Given the description of an element on the screen output the (x, y) to click on. 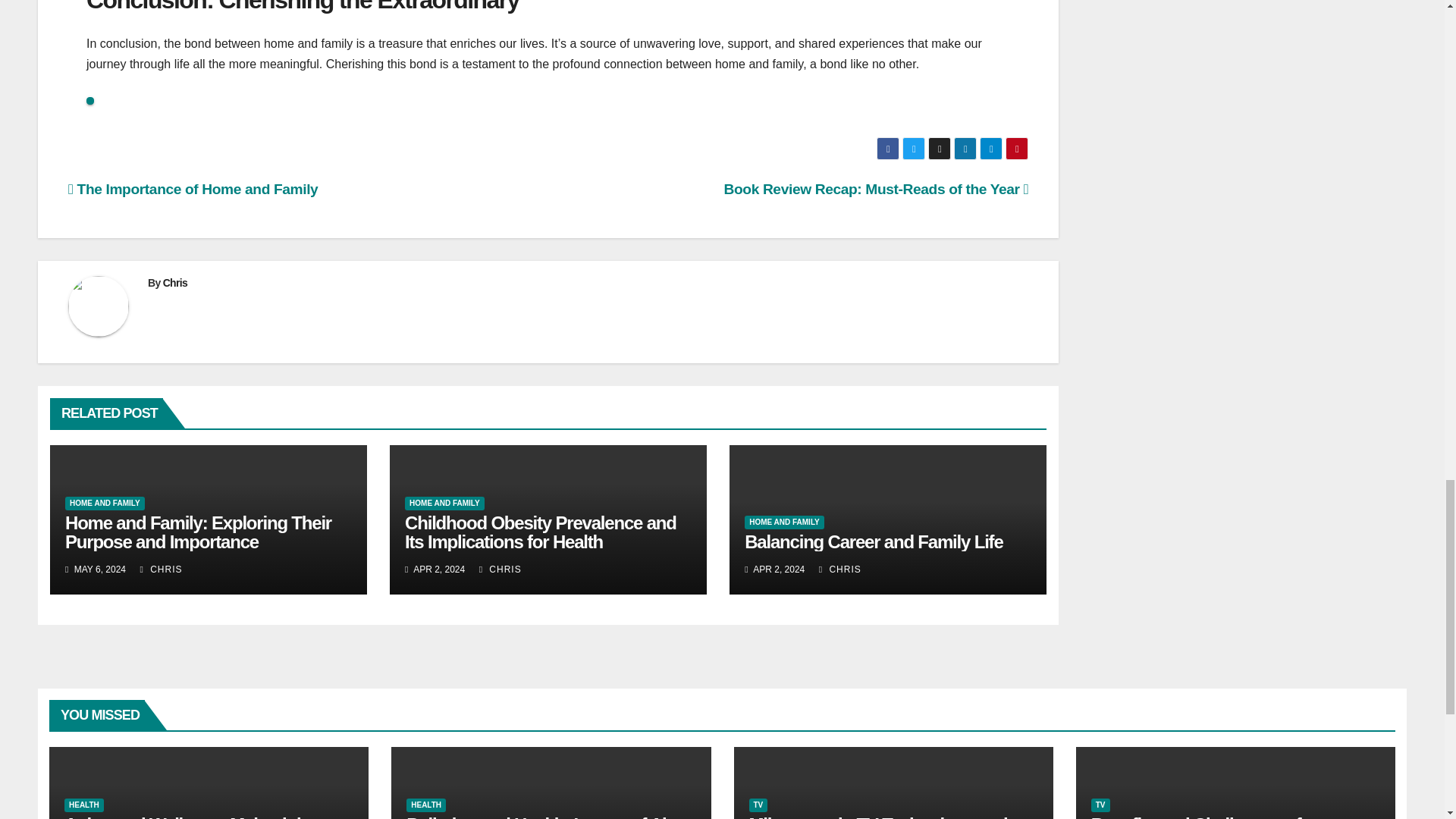
Permalink to: Balancing Career and Family Life (873, 541)
Permalink to: Milestones in TV Technology and Programming (878, 816)
HOME AND FAMILY (444, 503)
The Importance of Home and Family (192, 188)
Chris (175, 282)
CHRIS (160, 569)
Home and Family: Exploring Their Purpose and Importance (198, 532)
Book Review Recap: Must-Reads of the Year (876, 188)
HOME AND FAMILY (104, 503)
